Given the description of an element on the screen output the (x, y) to click on. 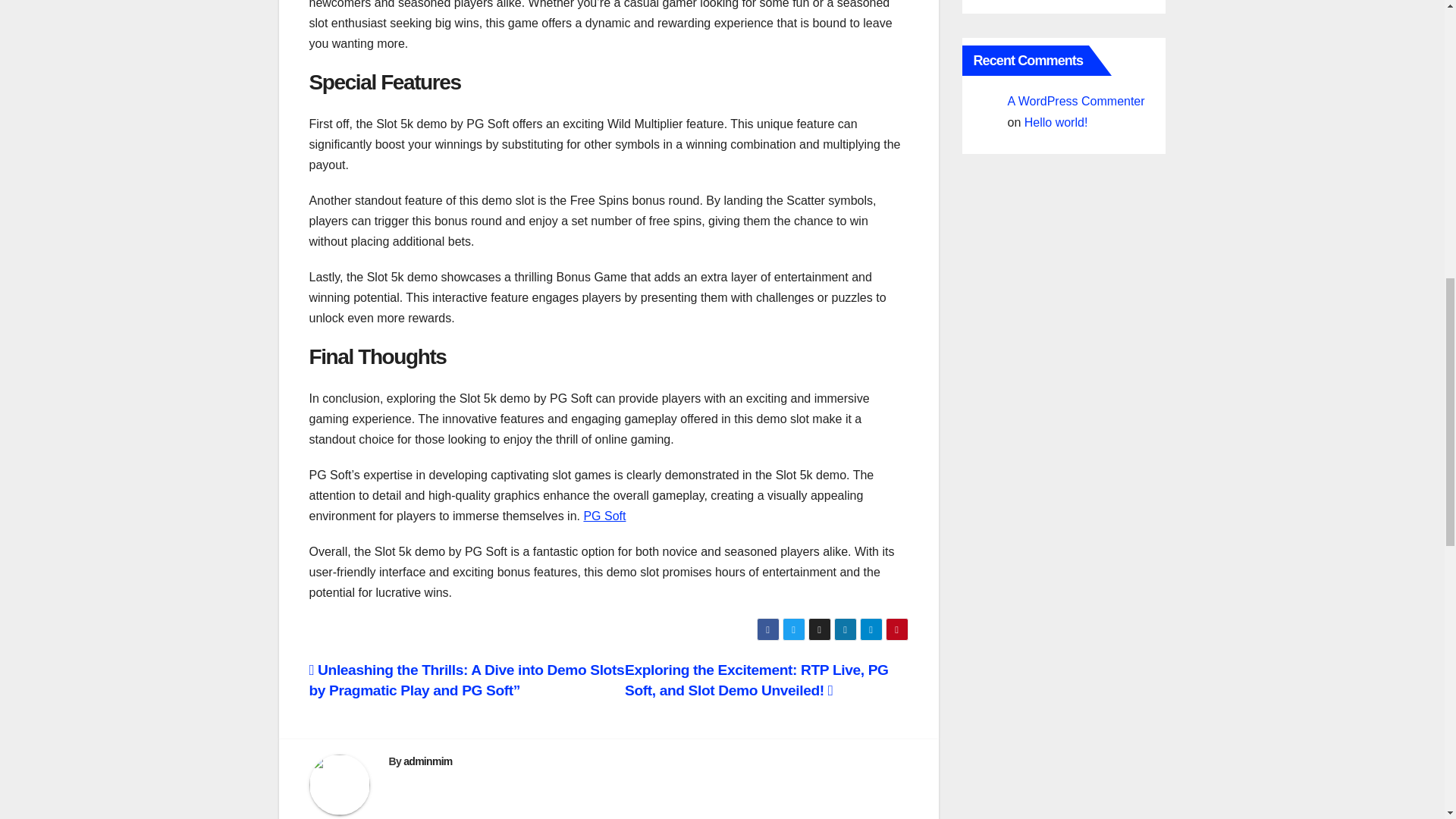
PG Soft (604, 515)
adminmim (427, 761)
